Given the description of an element on the screen output the (x, y) to click on. 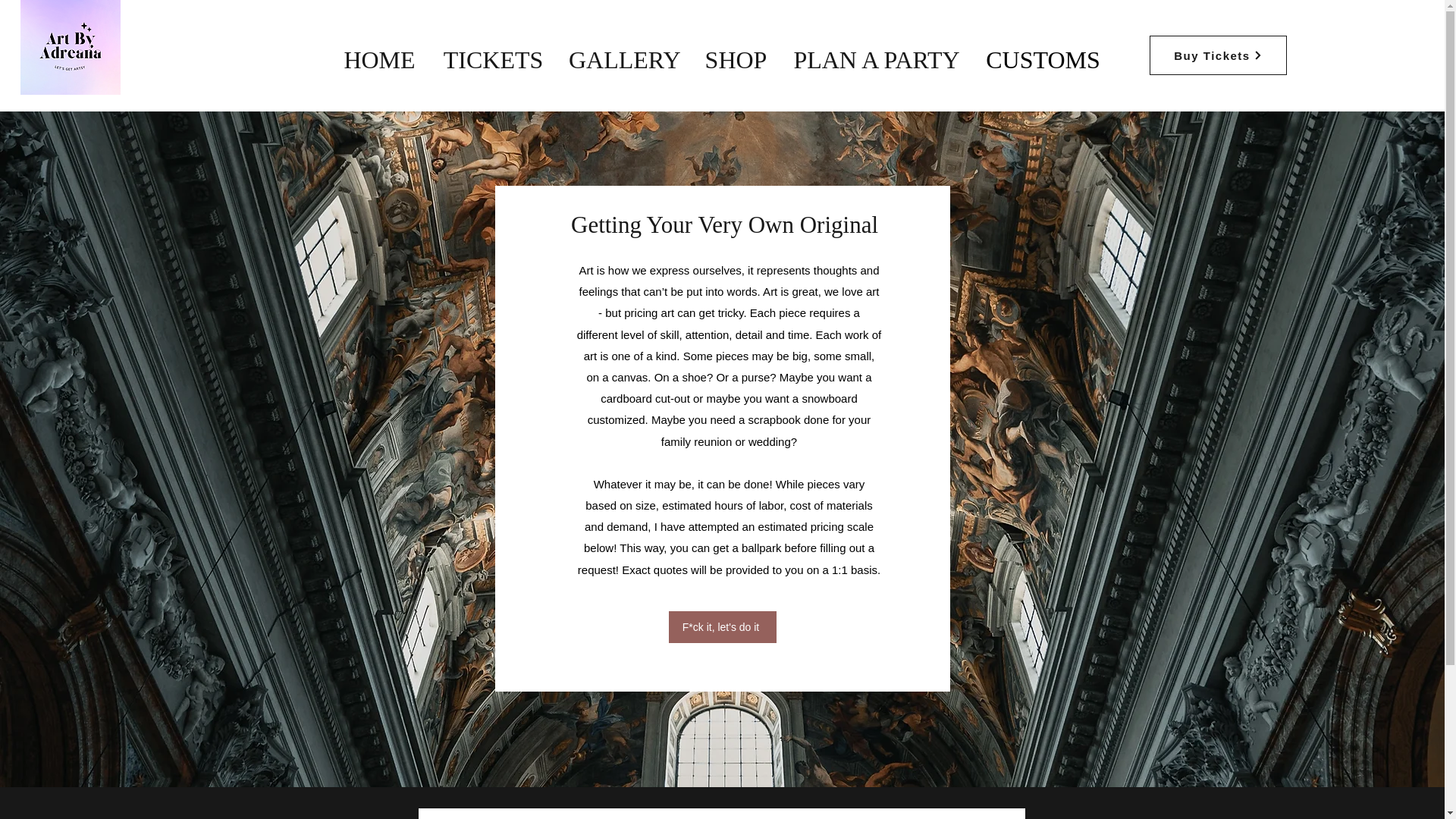
GALLERY (623, 60)
Buy Tickets (1218, 55)
SHOP (735, 60)
TICKETS (493, 60)
PLAN A PARTY (876, 60)
HOME (379, 60)
CUSTOMS (1043, 60)
